Given the description of an element on the screen output the (x, y) to click on. 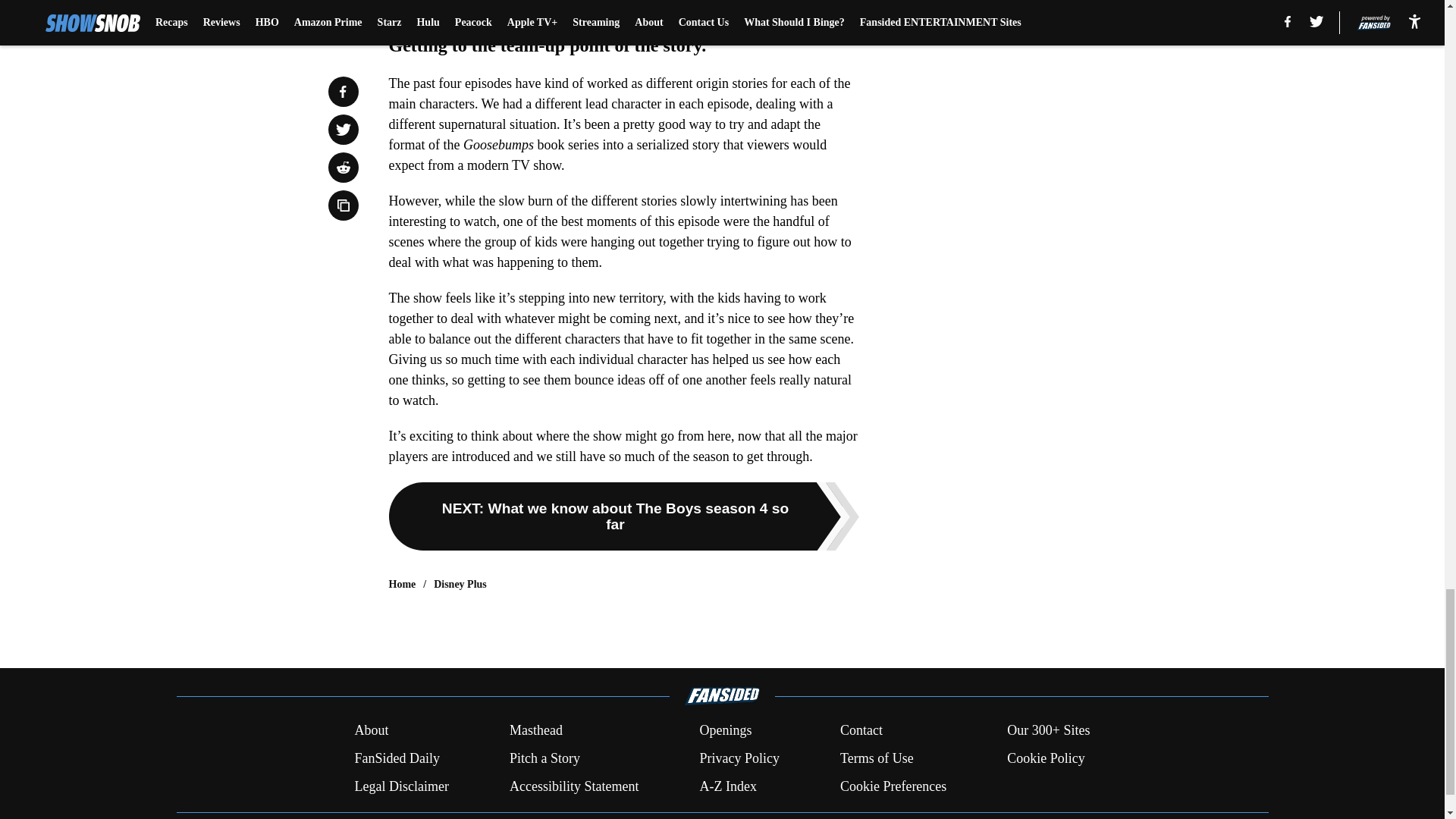
Openings (724, 730)
Masthead (535, 730)
FanSided Daily (396, 758)
Contact (861, 730)
NEXT: What we know about The Boys season 4 so far (623, 516)
Cookie Policy (1045, 758)
Disney Plus (459, 584)
Legal Disclaimer (400, 786)
Home (401, 584)
Privacy Policy (738, 758)
